Given the description of an element on the screen output the (x, y) to click on. 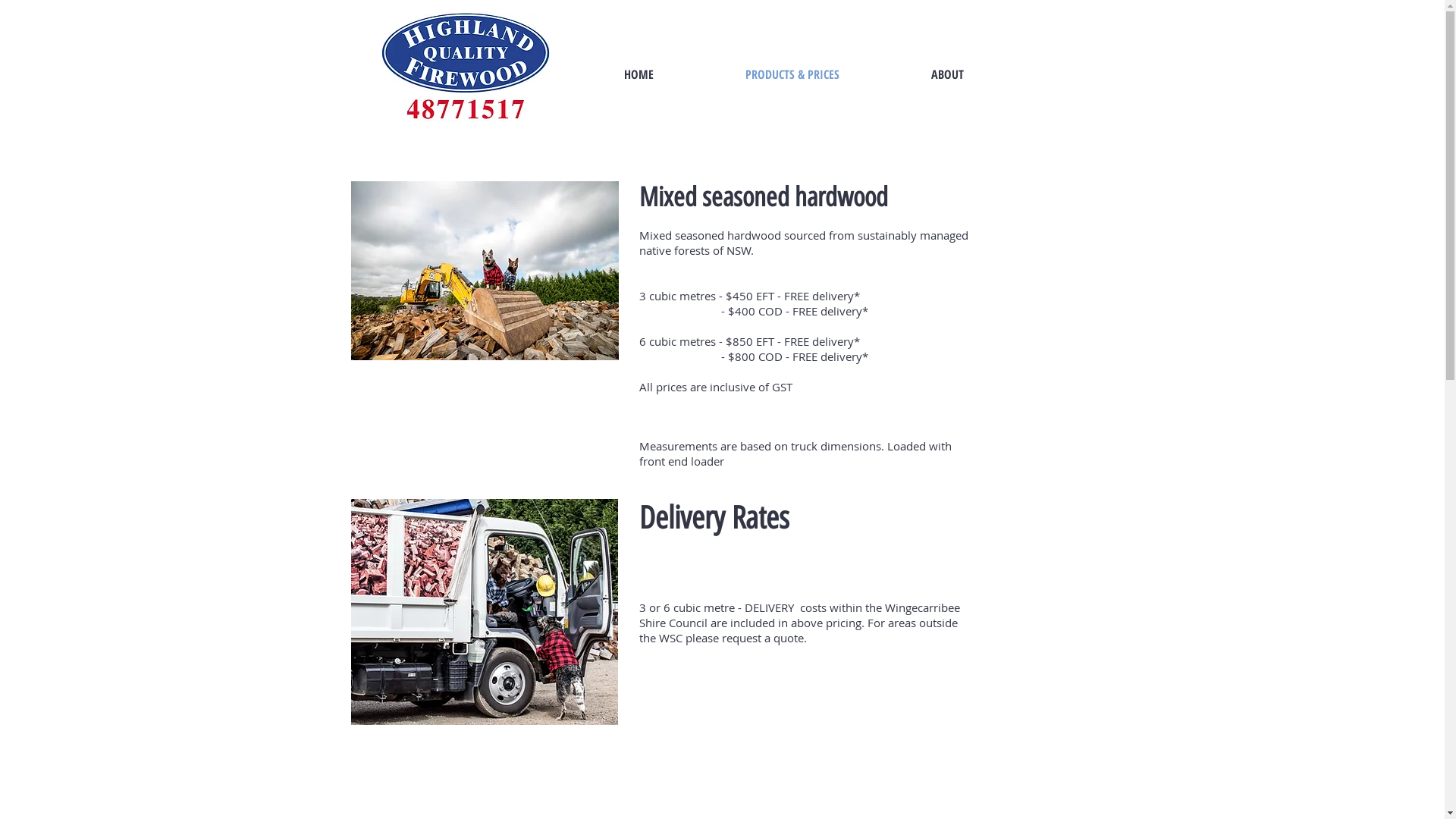
HIGQF-LOGO.jpg Element type: hover (464, 74)
ABOUT Element type: text (947, 74)
PRODUCTS & PRICES Element type: text (791, 74)
HOME Element type: text (638, 74)
